Given the description of an element on the screen output the (x, y) to click on. 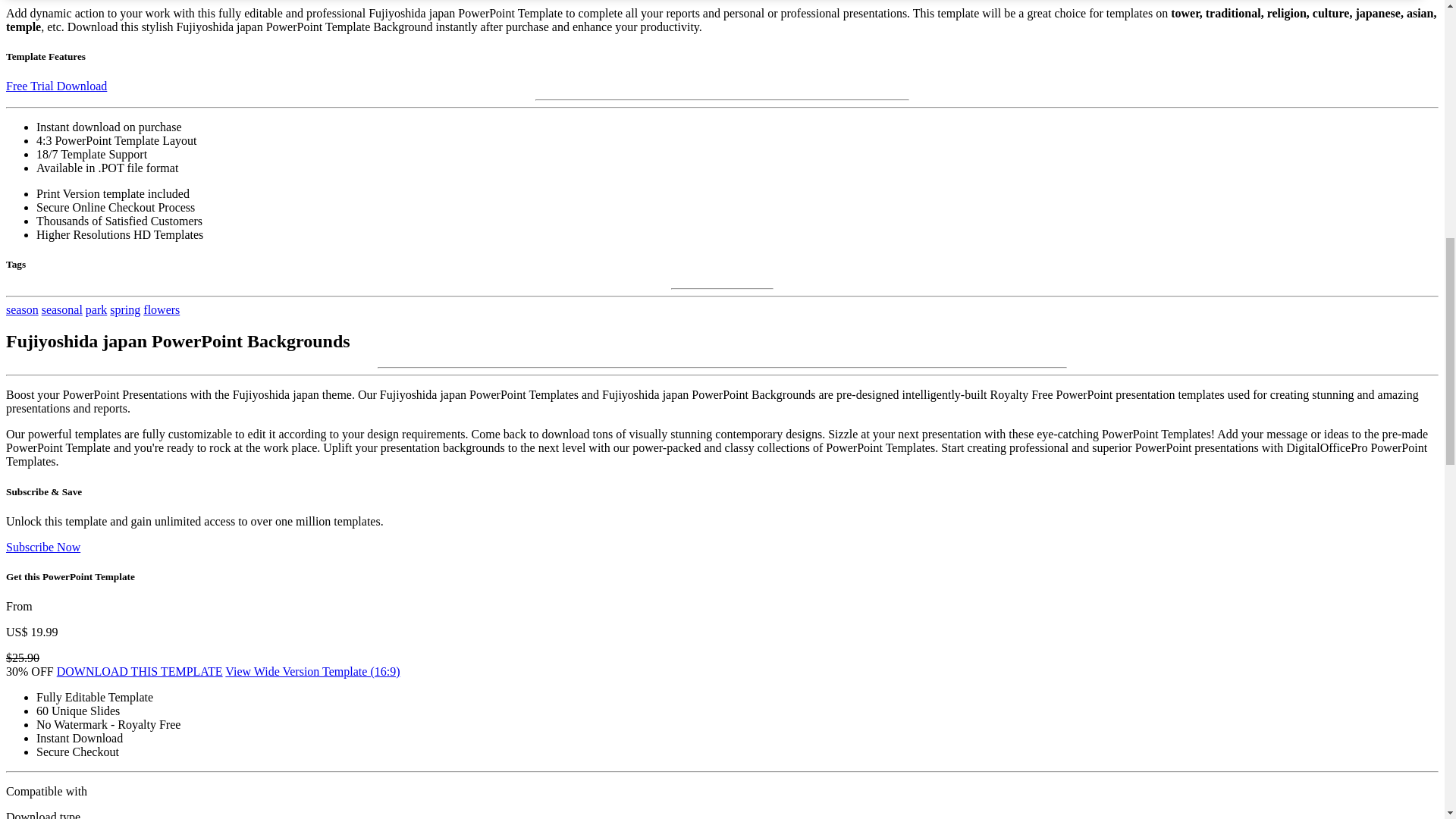
park (95, 309)
Download Fujiyoshida japan (139, 671)
season powerpoint templates (22, 309)
Free Trial Download (55, 85)
seasonal powerpoint templates (62, 309)
spring powerpoint templates (124, 309)
flowers (160, 309)
season (22, 309)
Subscribe Now (42, 546)
seasonal (62, 309)
